Given the description of an element on the screen output the (x, y) to click on. 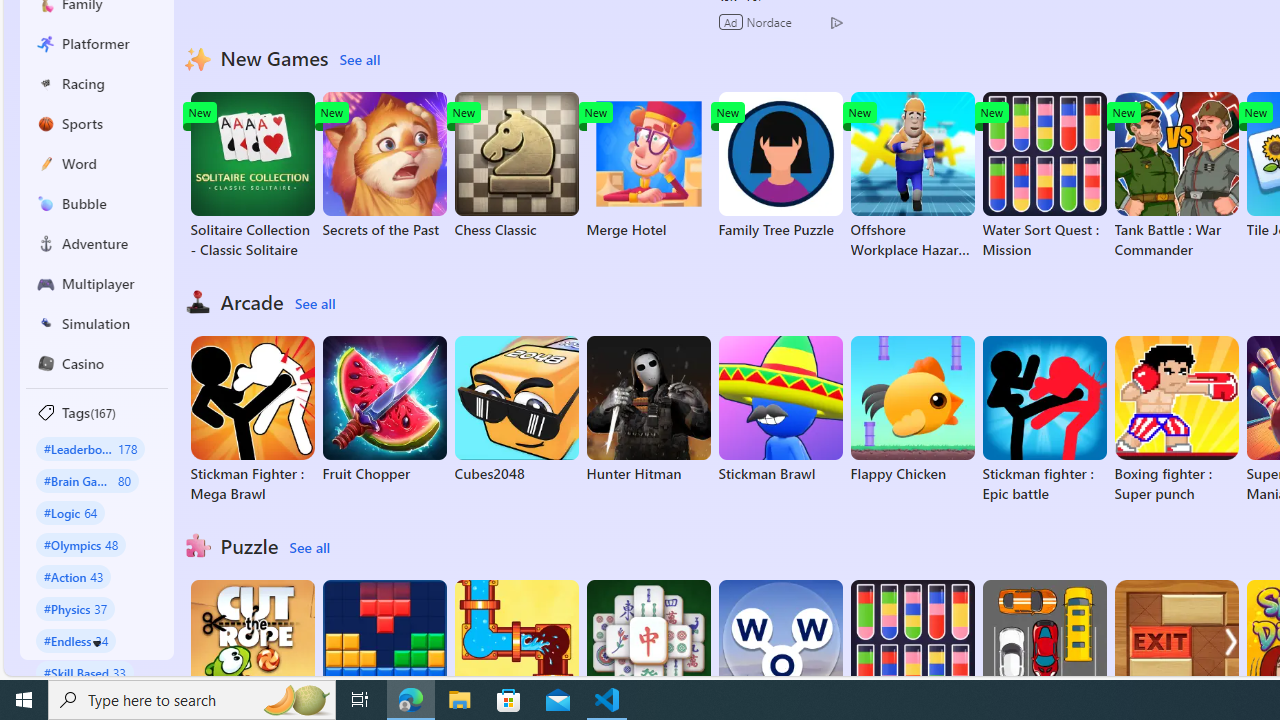
Chess Classic (516, 165)
Offshore Workplace Hazard Game (912, 175)
Cubes2048 (516, 409)
Flappy Chicken (912, 409)
Solitaire Collection - Classic Solitaire (251, 175)
Hunter Hitman (648, 409)
